Given the description of an element on the screen output the (x, y) to click on. 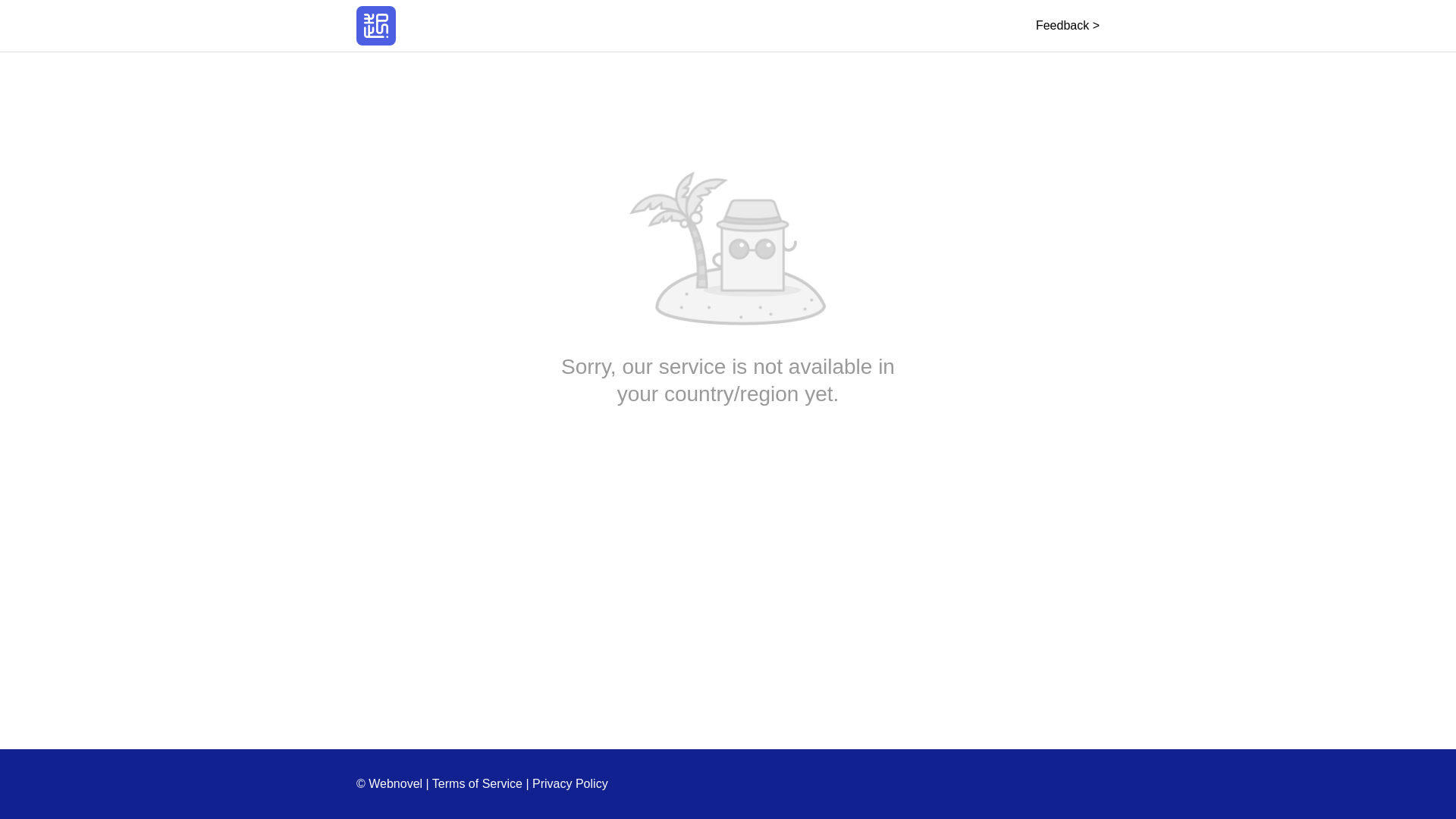
Terms of Service (477, 783)
Webnovel (376, 25)
Webnovel (376, 25)
Terms of Service (477, 783)
Privacy Policy (570, 783)
Feedback (1067, 24)
Privacy Policy (570, 783)
